Given the description of an element on the screen output the (x, y) to click on. 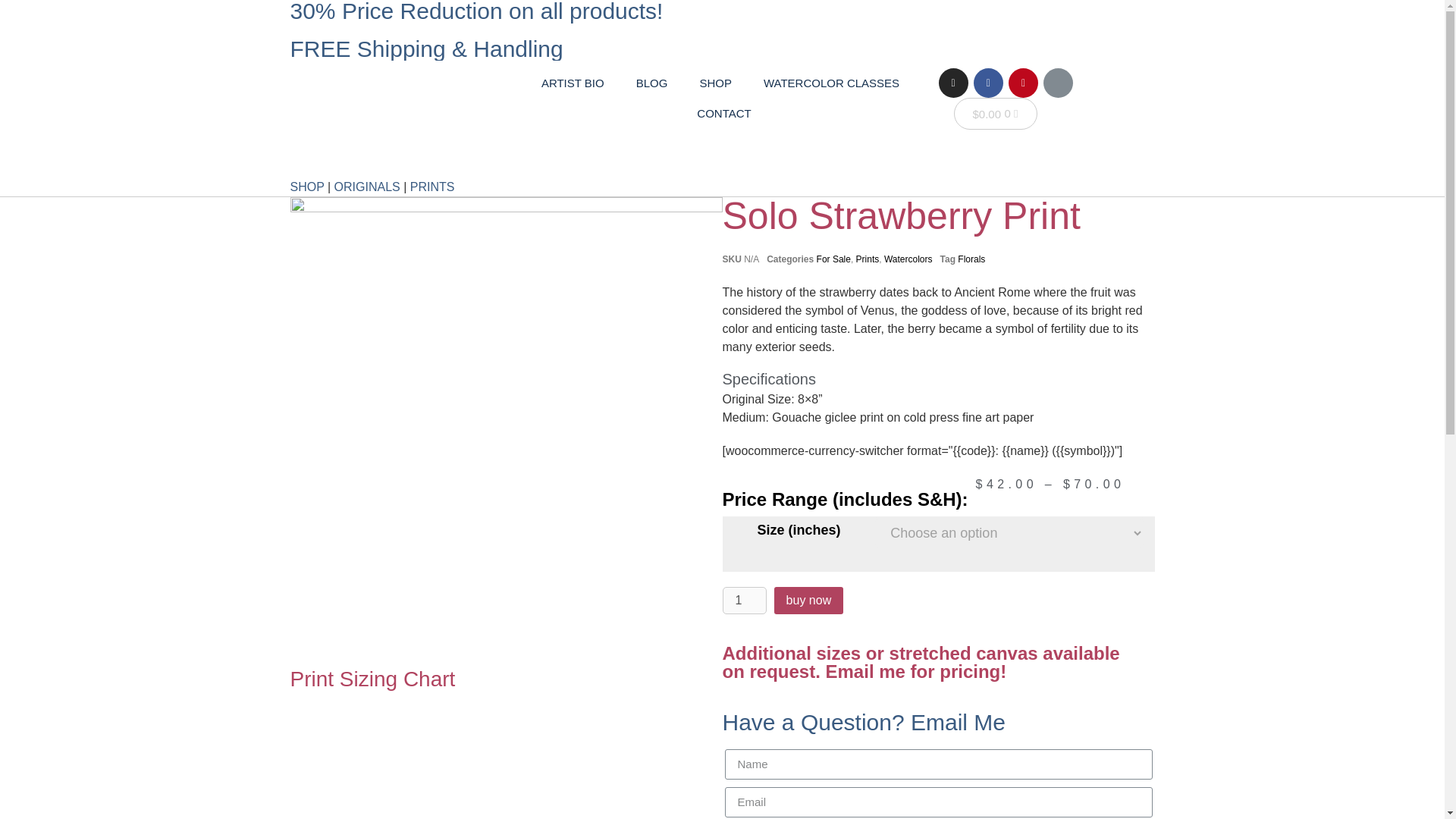
WATERCOLOR CLASSES (831, 82)
SHOP (715, 82)
CONTACT (723, 113)
BLOG (651, 82)
ARTIST BIO (572, 82)
1 (743, 600)
